Given the description of an element on the screen output the (x, y) to click on. 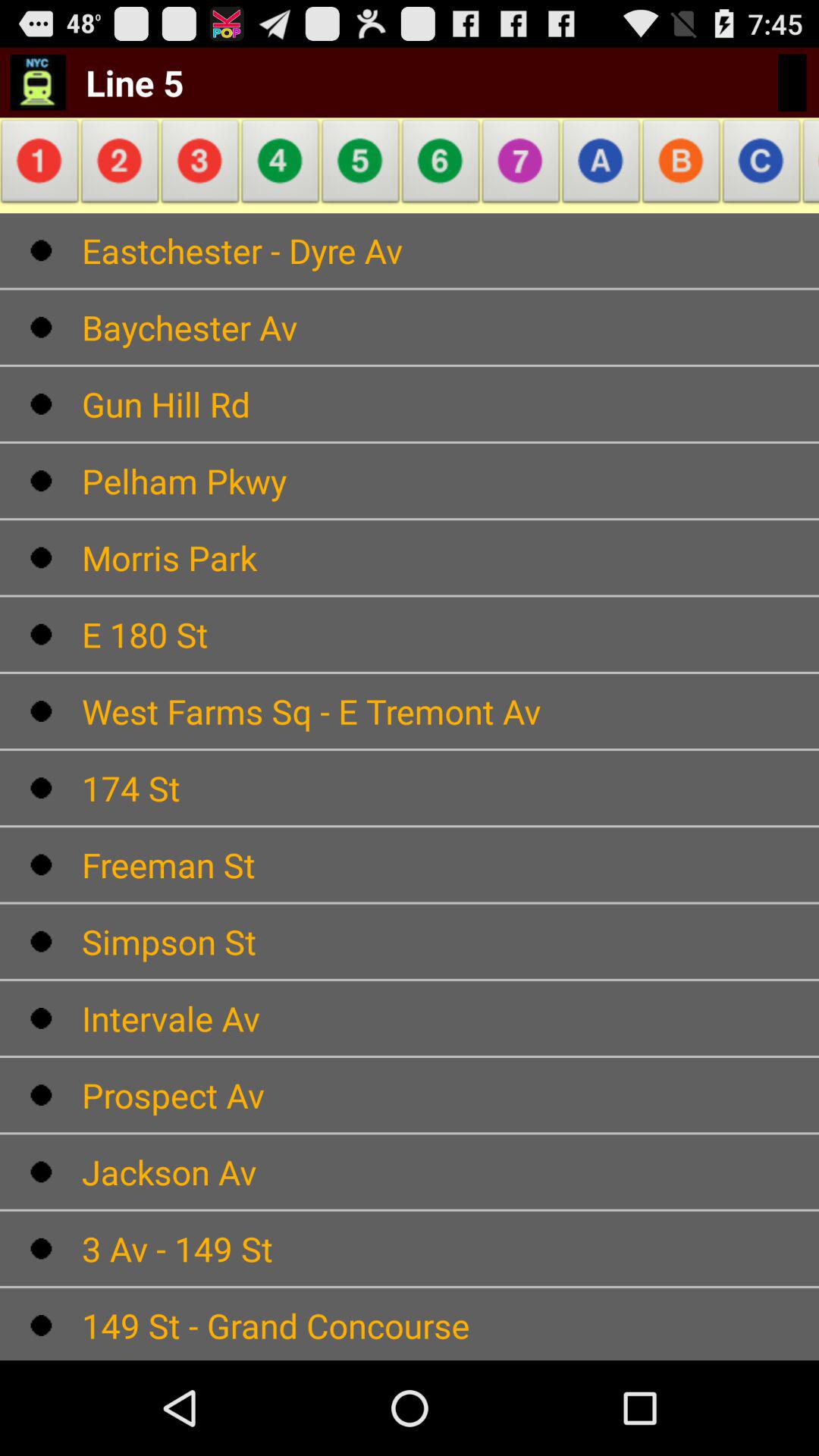
open the item above the eastchester - dyre av app (42, 165)
